Given the description of an element on the screen output the (x, y) to click on. 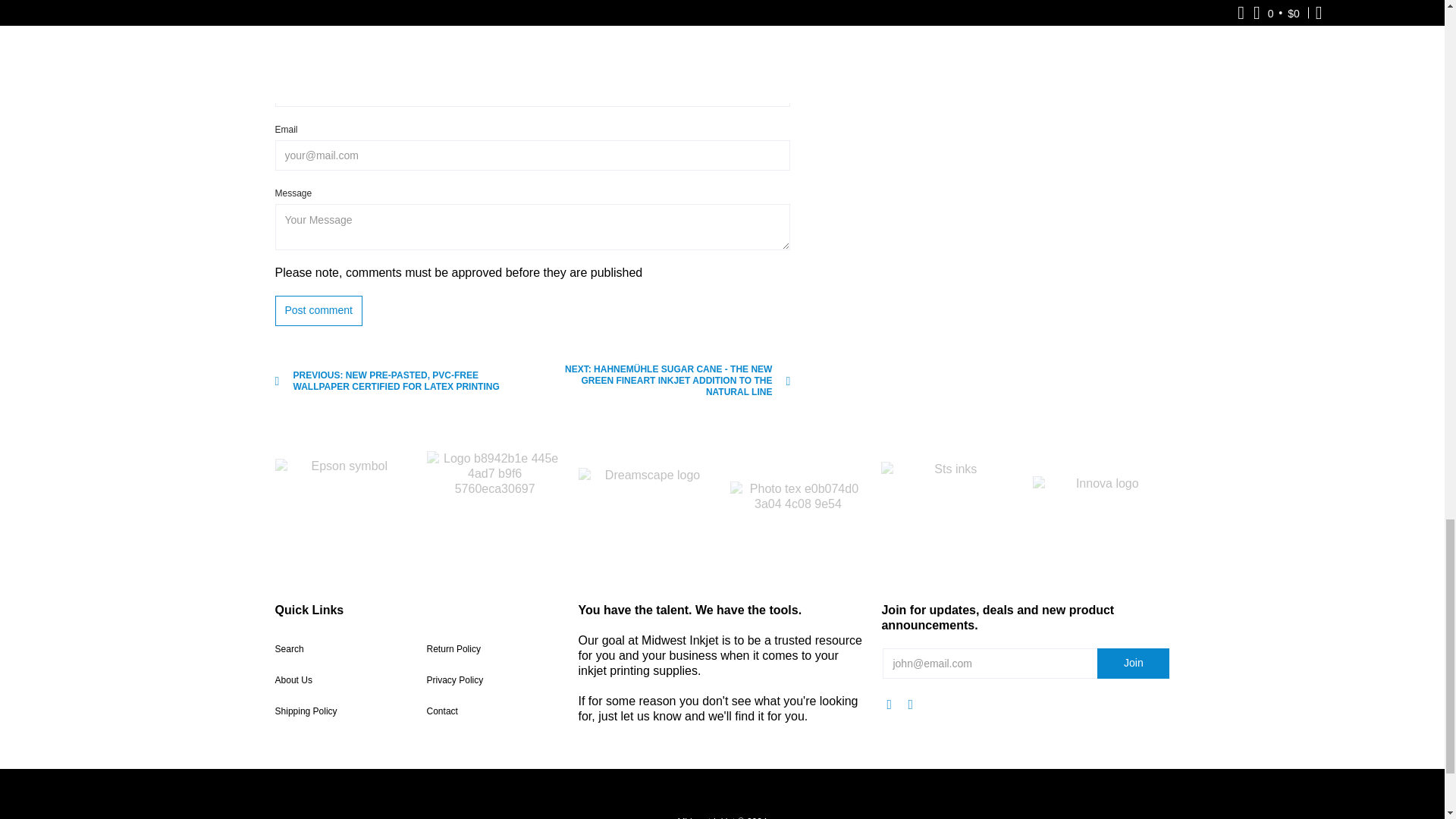
Join (1133, 663)
Post comment (318, 310)
